Given the description of an element on the screen output the (x, y) to click on. 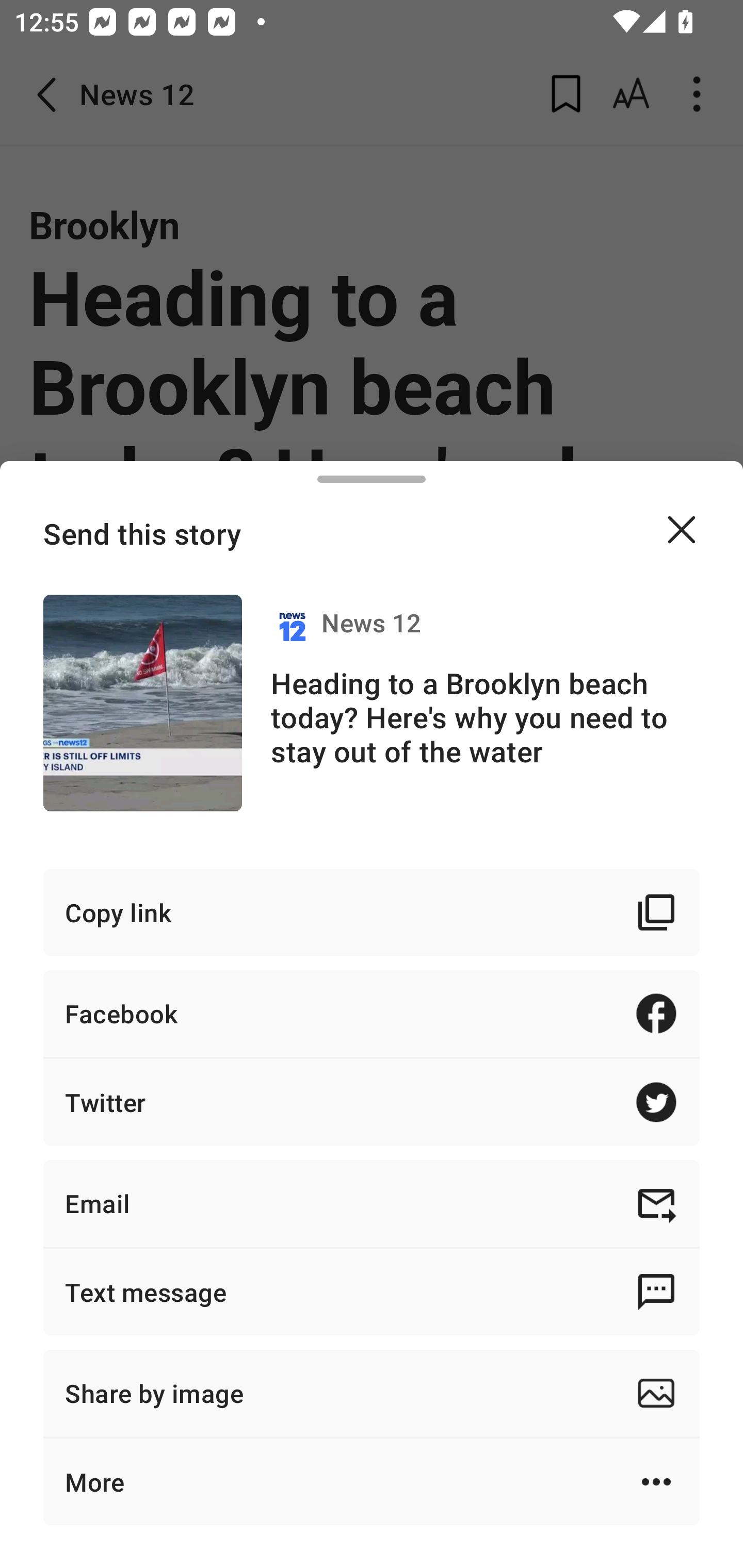
Copy link (371, 912)
Facebook (371, 1013)
Twitter (371, 1102)
Email (371, 1203)
Text message (371, 1291)
Share by image (371, 1393)
More (371, 1481)
